Given the description of an element on the screen output the (x, y) to click on. 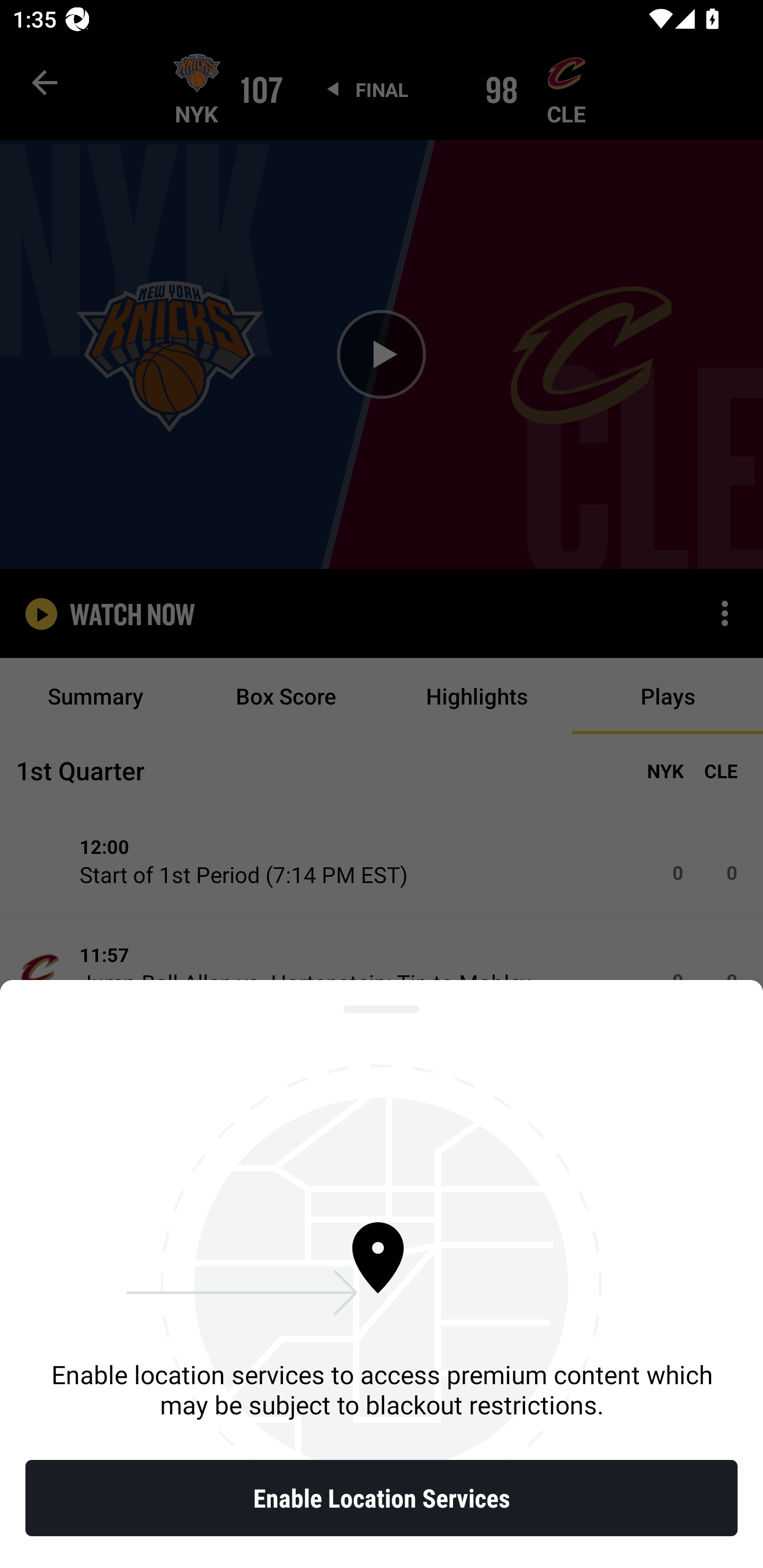
Enable Location Services (381, 1497)
